Given the description of an element on the screen output the (x, y) to click on. 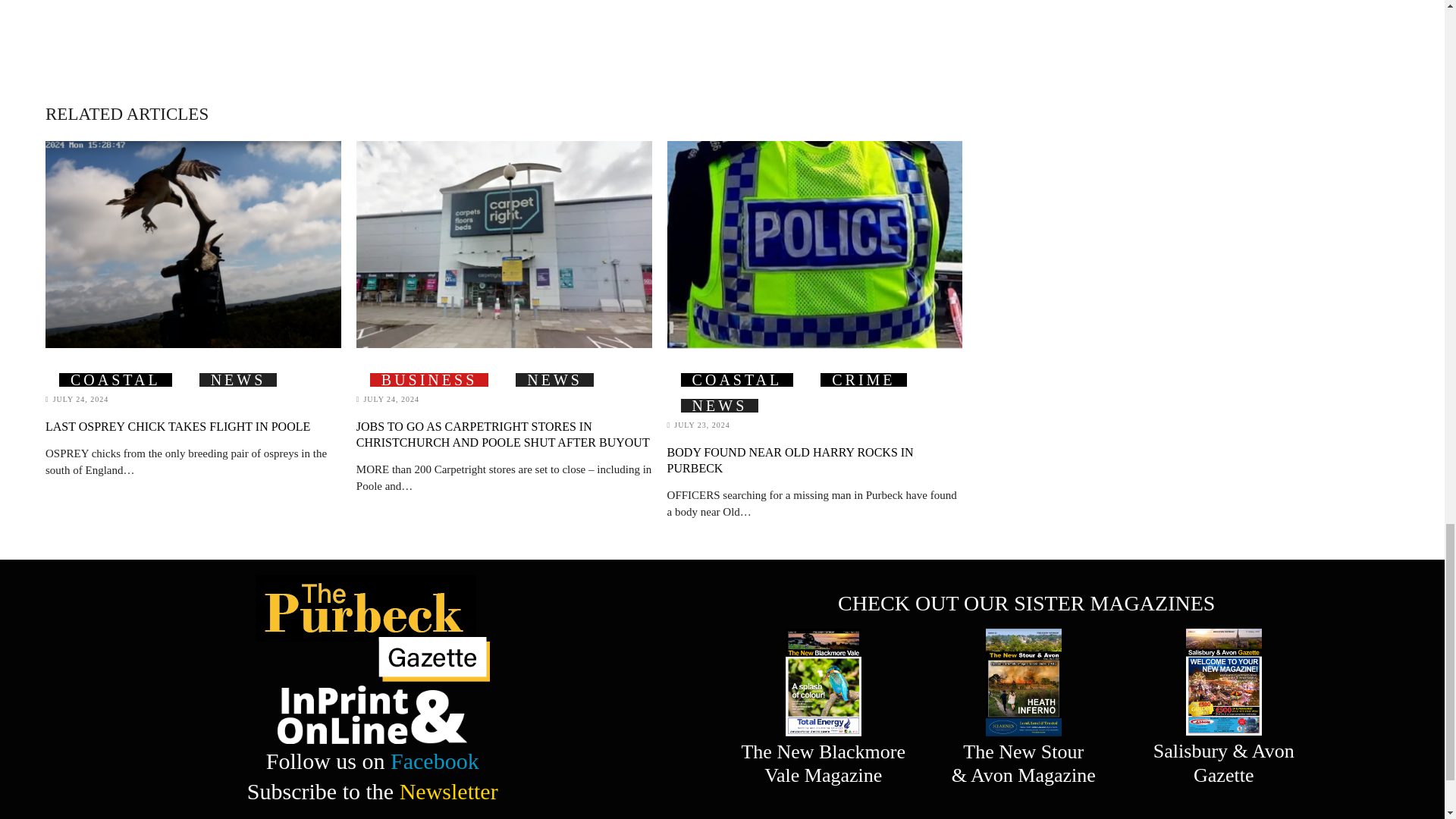
Body found near Old Harry Rocks in Purbeck (814, 244)
Last osprey chick takes flight in Poole (192, 244)
